Given the description of an element on the screen output the (x, y) to click on. 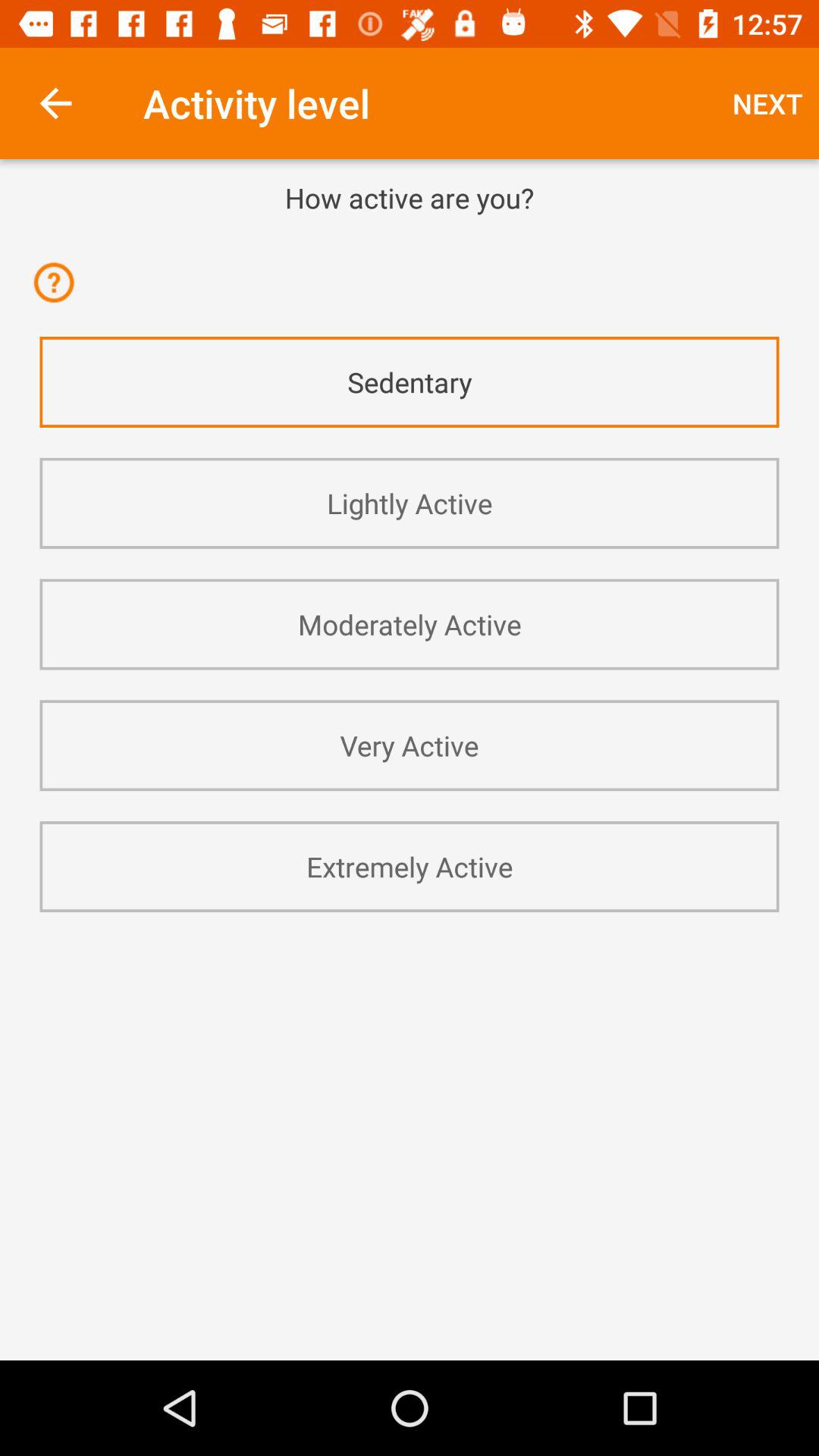
choose the app above very active item (409, 624)
